Given the description of an element on the screen output the (x, y) to click on. 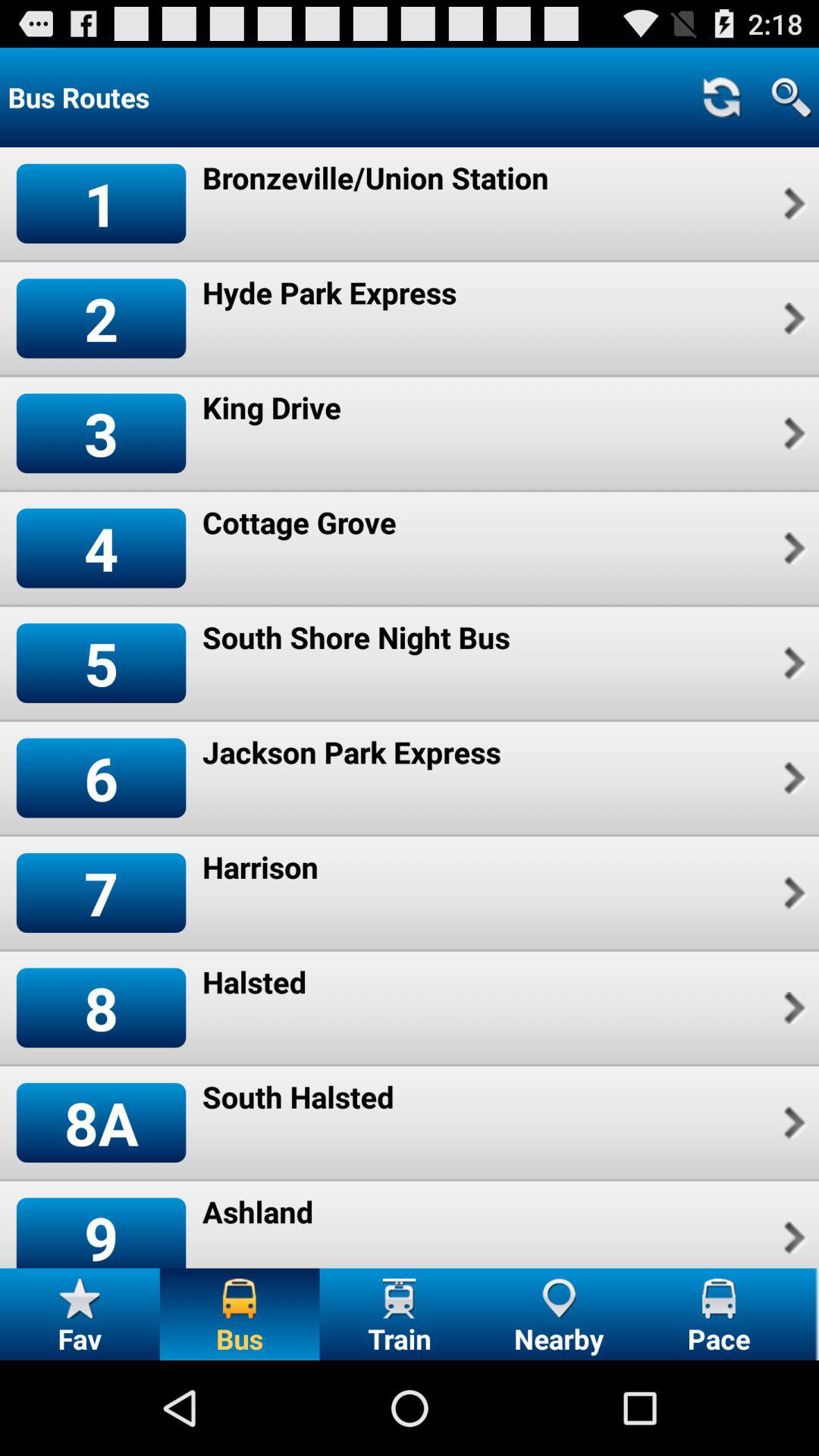
turn off item next to halsted app (792, 1007)
